Given the description of an element on the screen output the (x, y) to click on. 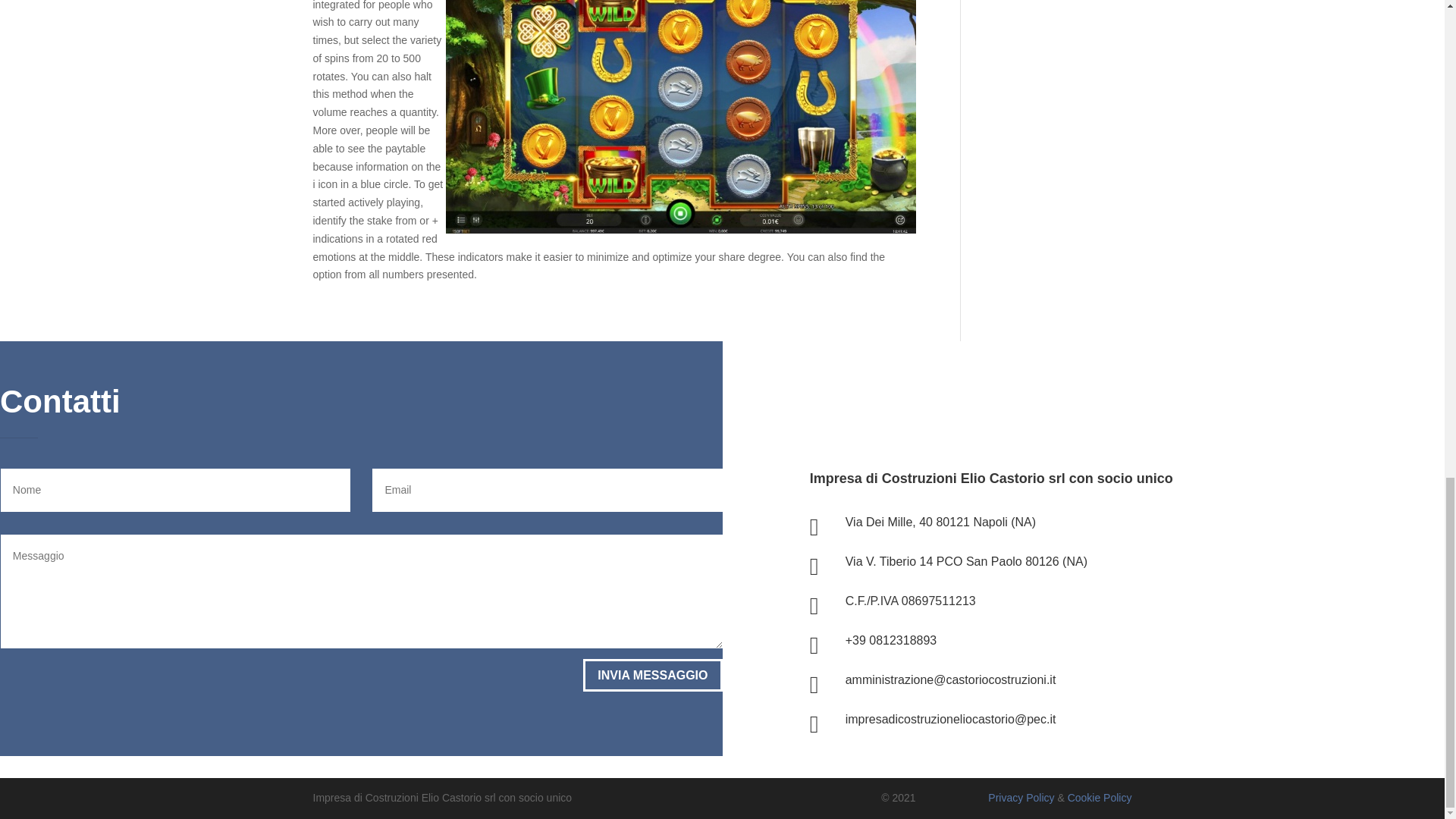
INVIA MESSAGGIO (652, 675)
Cookie Policy (1099, 797)
Privacy Policy (1021, 797)
